Given the description of an element on the screen output the (x, y) to click on. 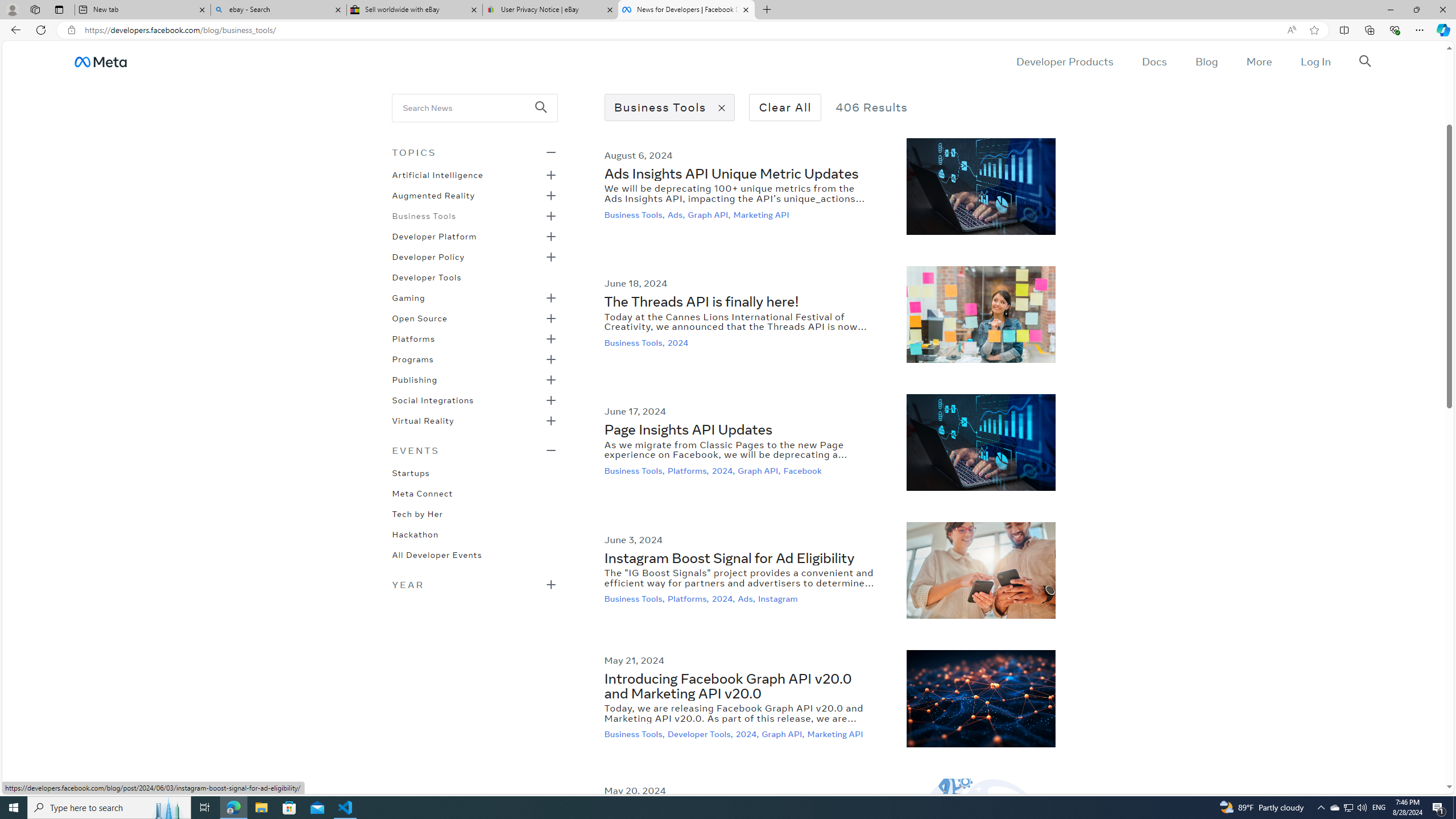
New Tab (766, 9)
